Given the description of an element on the screen output the (x, y) to click on. 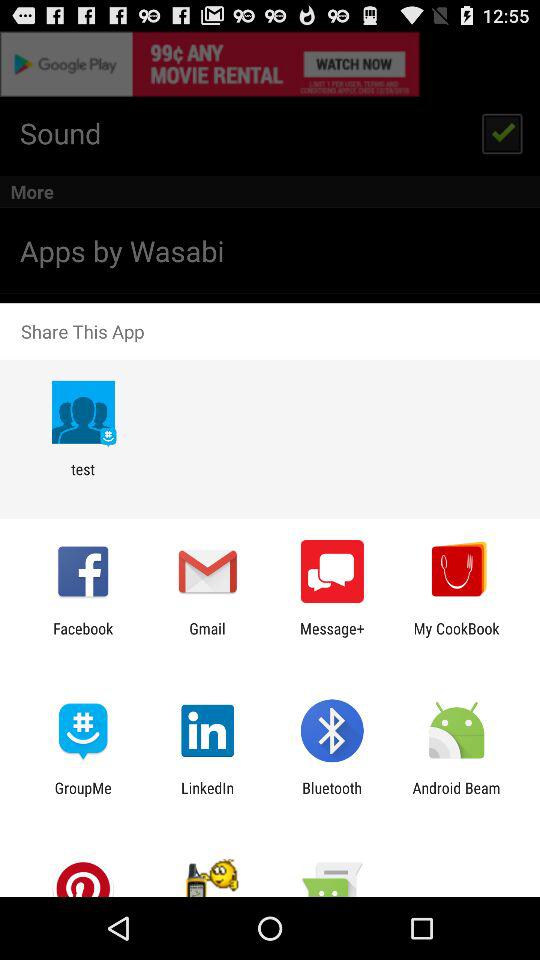
choose item next to message+ item (207, 637)
